Given the description of an element on the screen output the (x, y) to click on. 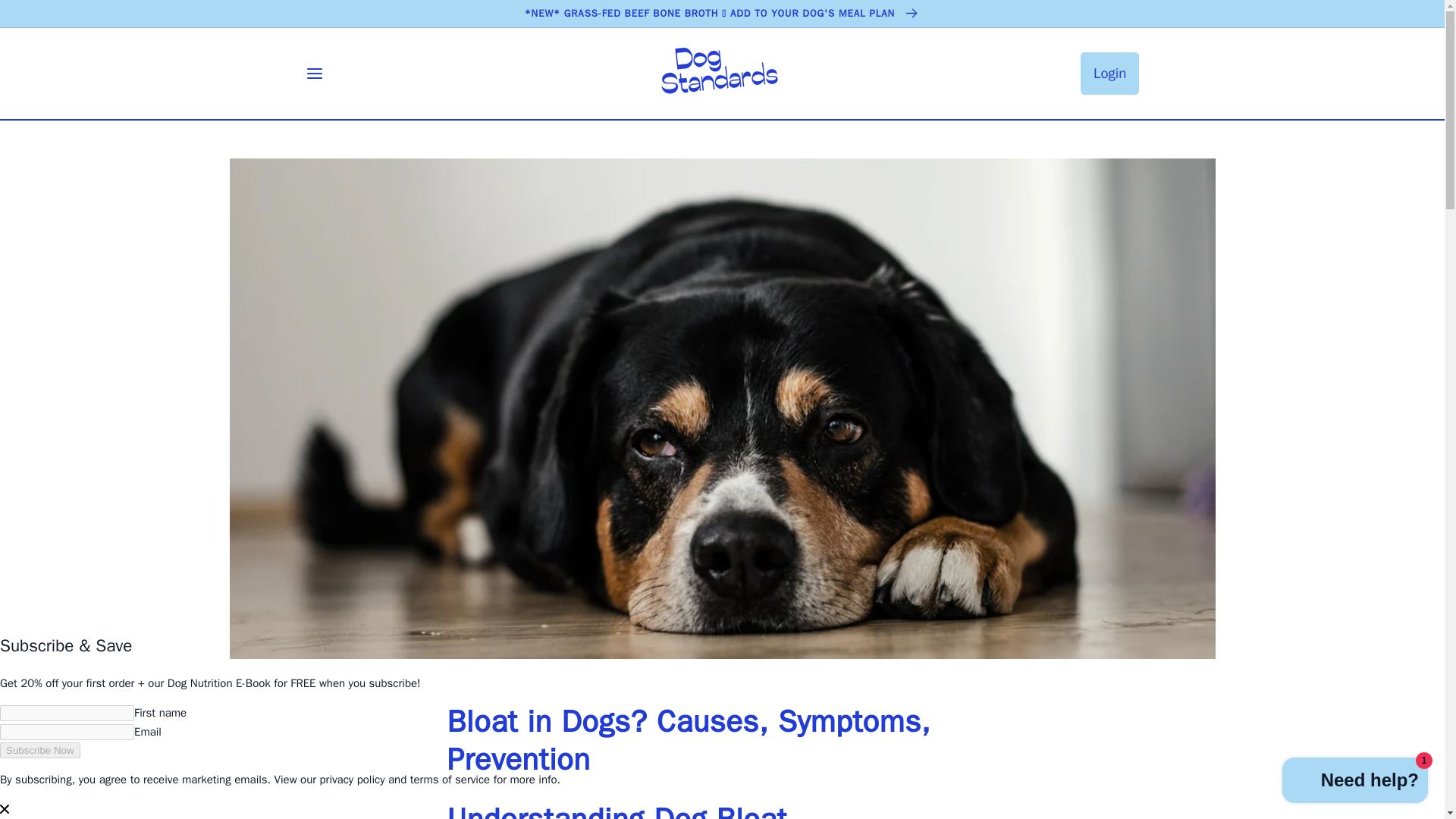
Shopify online store chat (1355, 781)
Login (1109, 73)
Skip to content (45, 16)
